Given the description of an element on the screen output the (x, y) to click on. 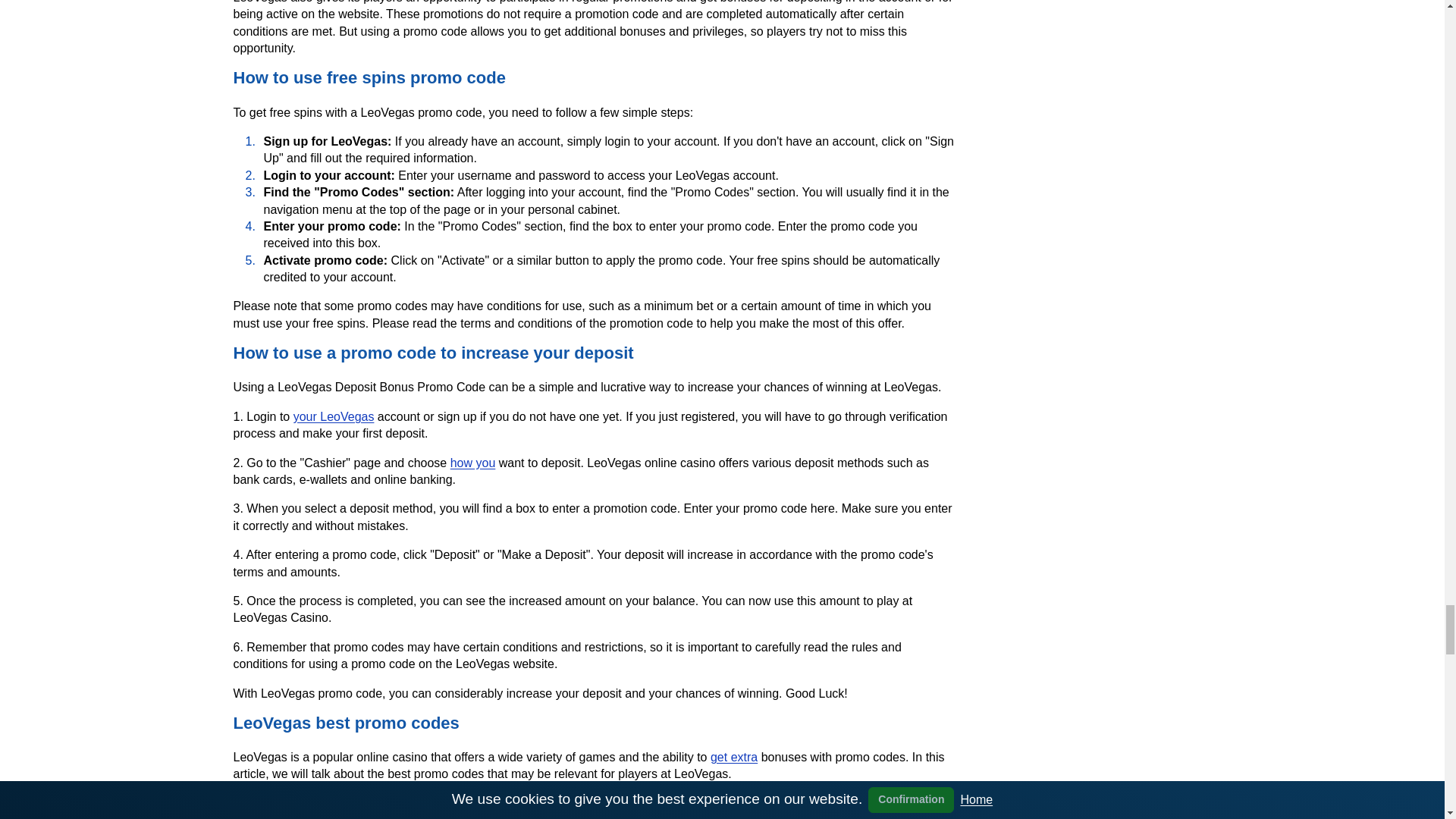
get extra (733, 757)
your LeoVegas (334, 416)
how you (472, 462)
